Given the description of an element on the screen output the (x, y) to click on. 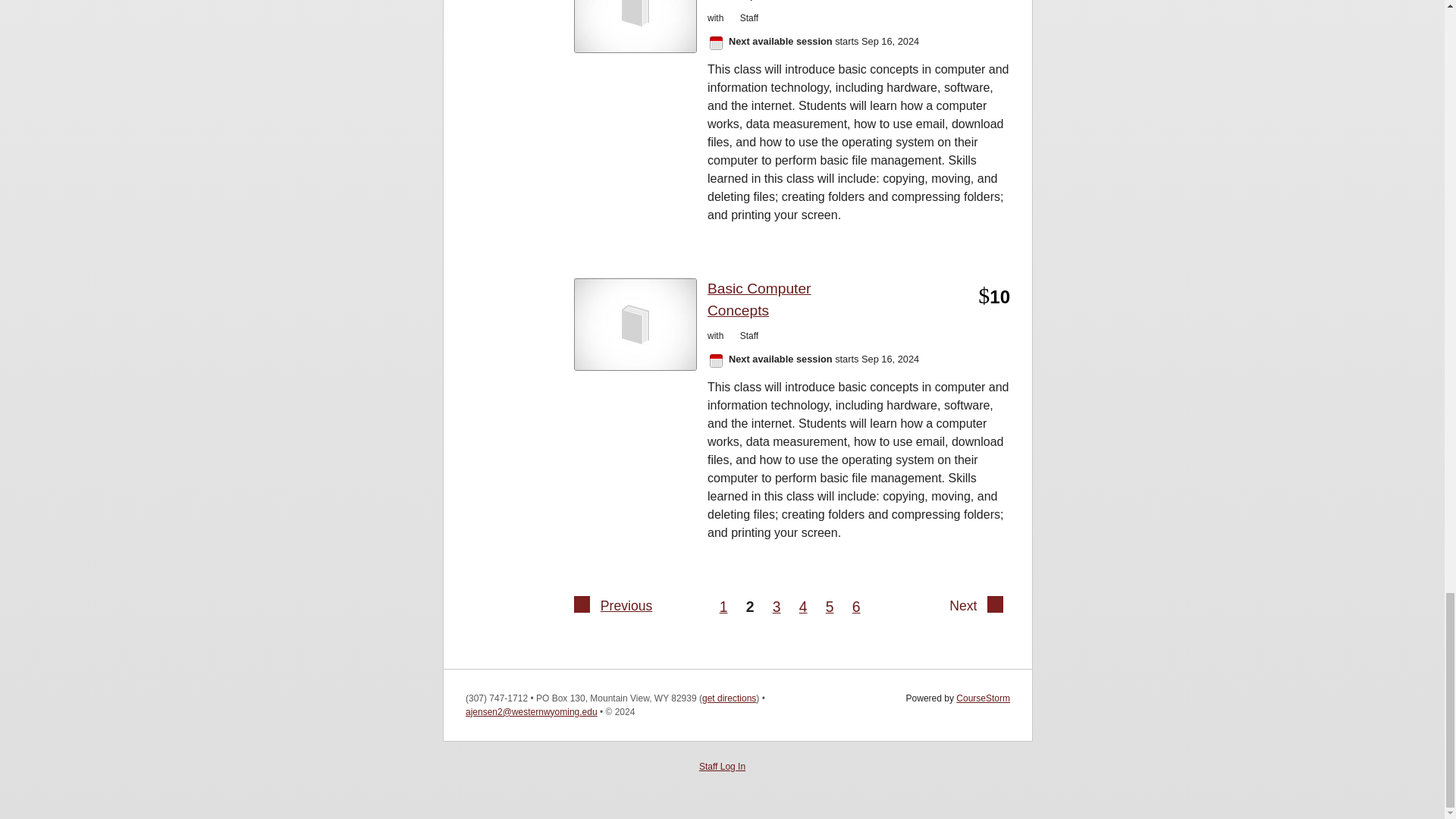
Basic Computer Concepts (791, 300)
get directions (728, 697)
Basic Computer Concepts (791, 2)
Next (994, 607)
Previous (624, 605)
CourseStorm (983, 697)
Staff Log In (721, 766)
Get directions (728, 697)
